Given the description of an element on the screen output the (x, y) to click on. 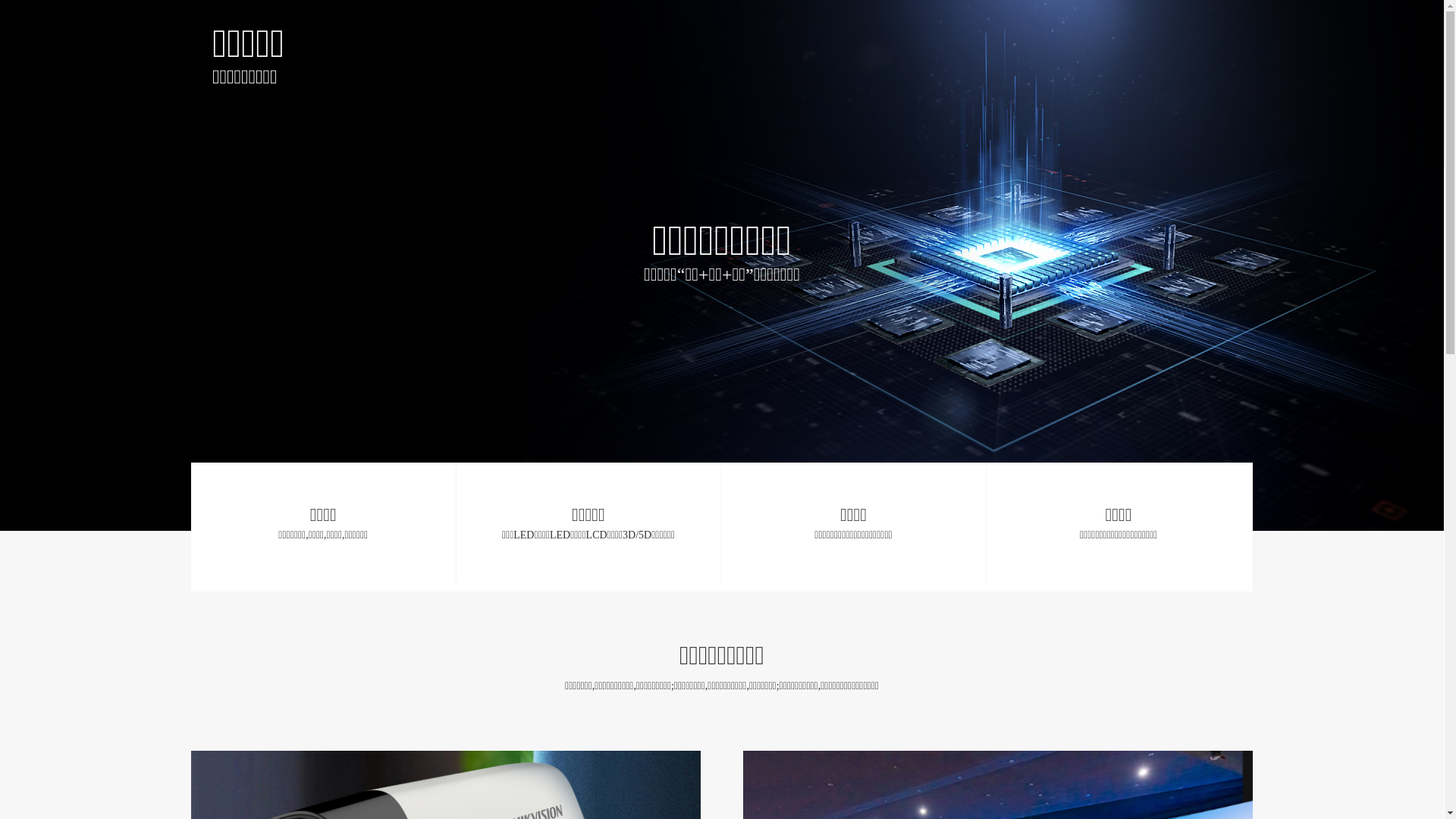
X Element type: text (1428, 98)
3416866048 Element type: text (420, 637)
